Given the description of an element on the screen output the (x, y) to click on. 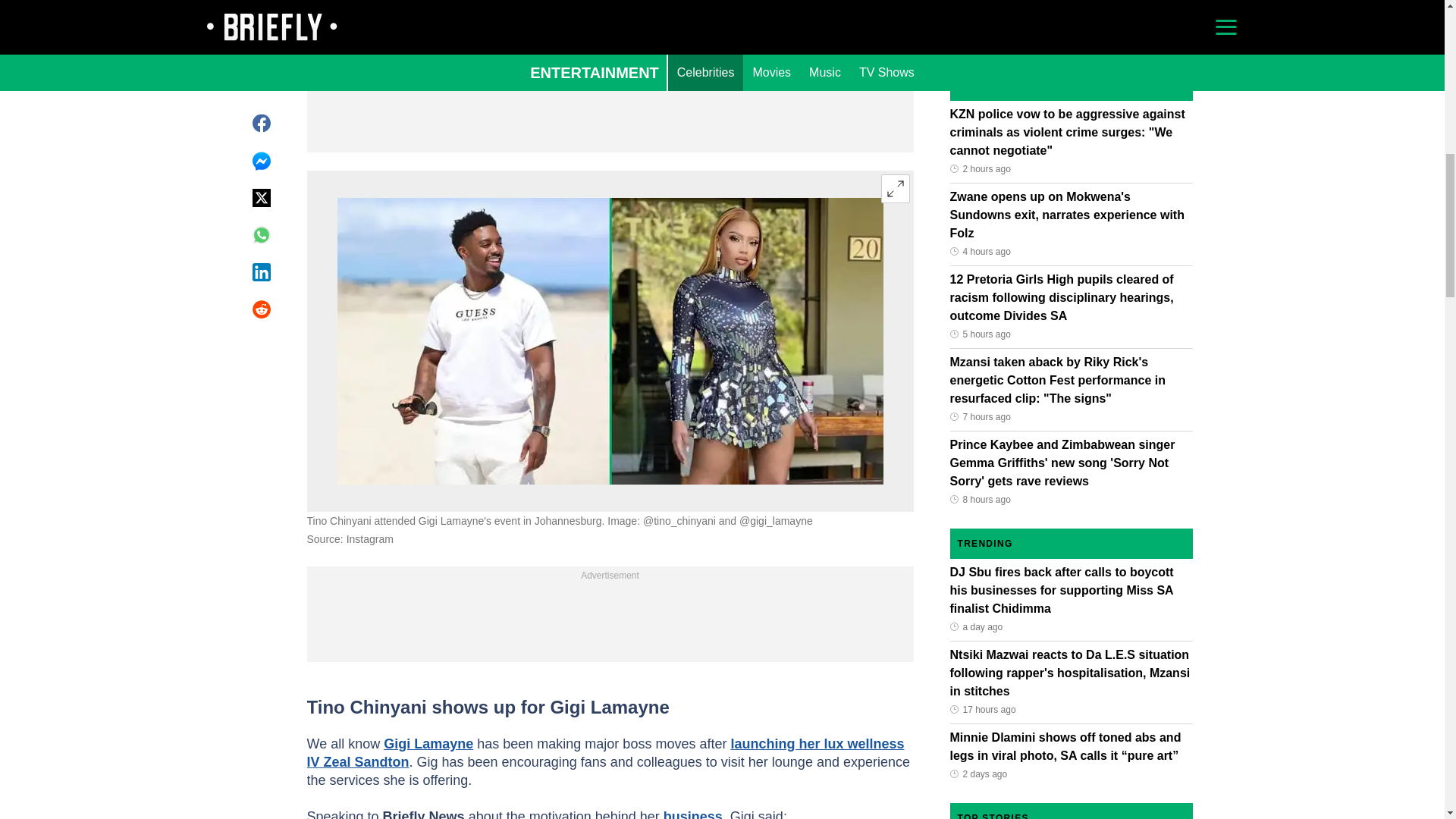
Expand image (895, 188)
